Given the description of an element on the screen output the (x, y) to click on. 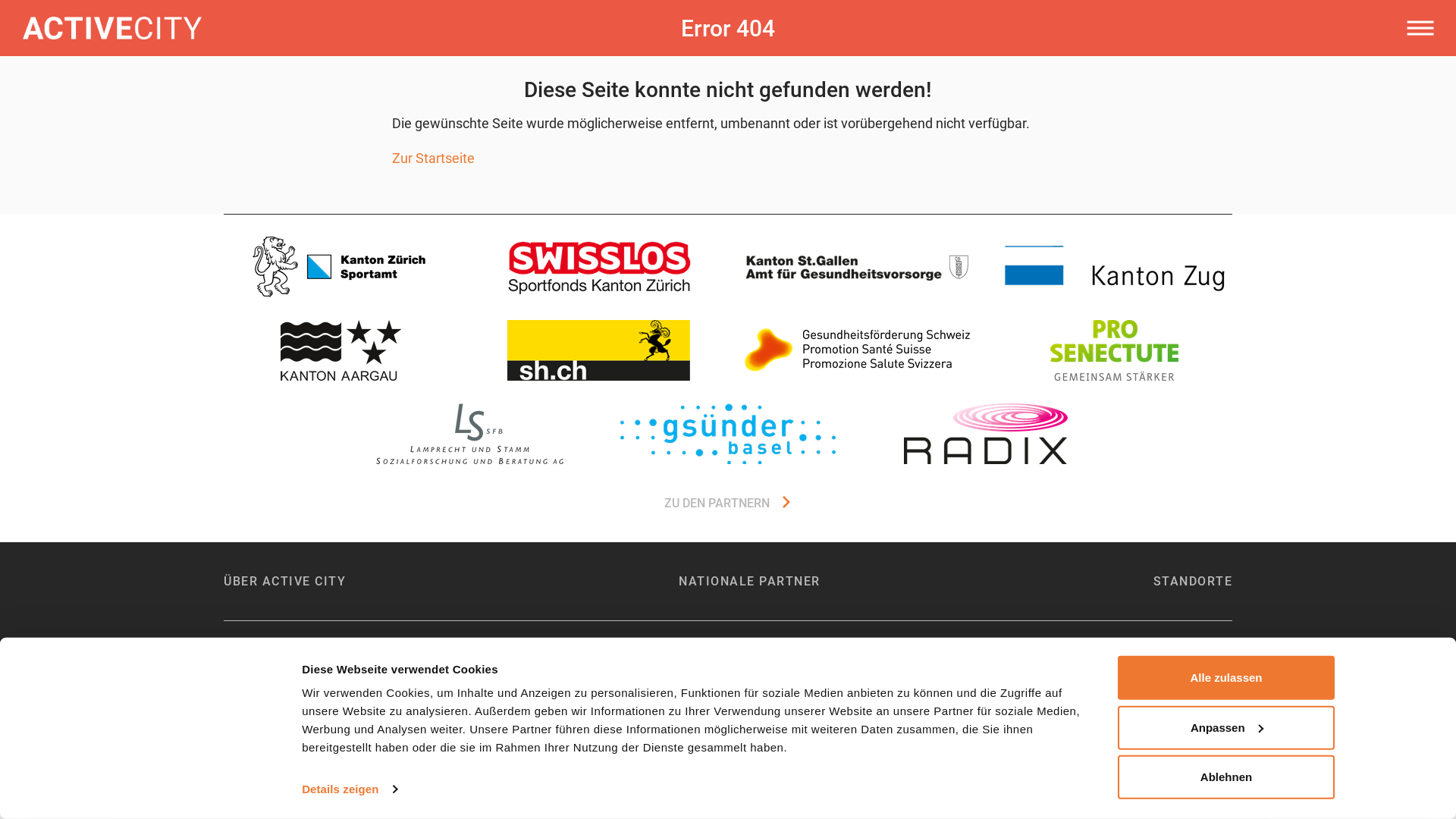
Impressum Element type: text (253, 668)
Swisslos Element type: hover (598, 266)
Kanton Aargau Element type: hover (340, 350)
Lamprecht und Stamm Element type: hover (469, 433)
Sportamt Element type: hover (1114, 266)
Lamprecht & Stamm Element type: hover (469, 433)
STANDORTE Element type: text (1192, 580)
Anpassen Element type: text (1225, 727)
Pro Senectute Schweiz Element type: hover (1114, 350)
Radix Element type: hover (985, 433)
Pro Senectute Schweiz Element type: hover (1114, 350)
ZU DEN PARTNERN Element type: text (727, 502)
Datenschutz & Reglement Element type: text (370, 668)
https://www.radix.ch Element type: hover (985, 433)
Kanton Zug Element type: hover (1114, 266)
Kanton St. Gallen Element type: hover (856, 266)
NATIONALE PARTNER Element type: text (749, 580)
Active City Element type: hover (316, 27)
Sportamt Element type: hover (340, 266)
Ablehnen Element type: text (1225, 777)
Kanton Schaffhausen Element type: hover (598, 350)
Zur Startseite Element type: text (433, 158)
Kanton Schaffhausen Element type: hover (598, 350)
Details zeigen Element type: text (348, 789)
RADIX Schweizerische Gesundheitsstiftung Element type: text (727, 669)
Swisslos Element type: hover (598, 266)
Alle zulassen Element type: text (1225, 677)
Kanton Aargau Element type: hover (341, 350)
Active City Logo weiss full Element type: hover (111, 27)
